Given the description of an element on the screen output the (x, y) to click on. 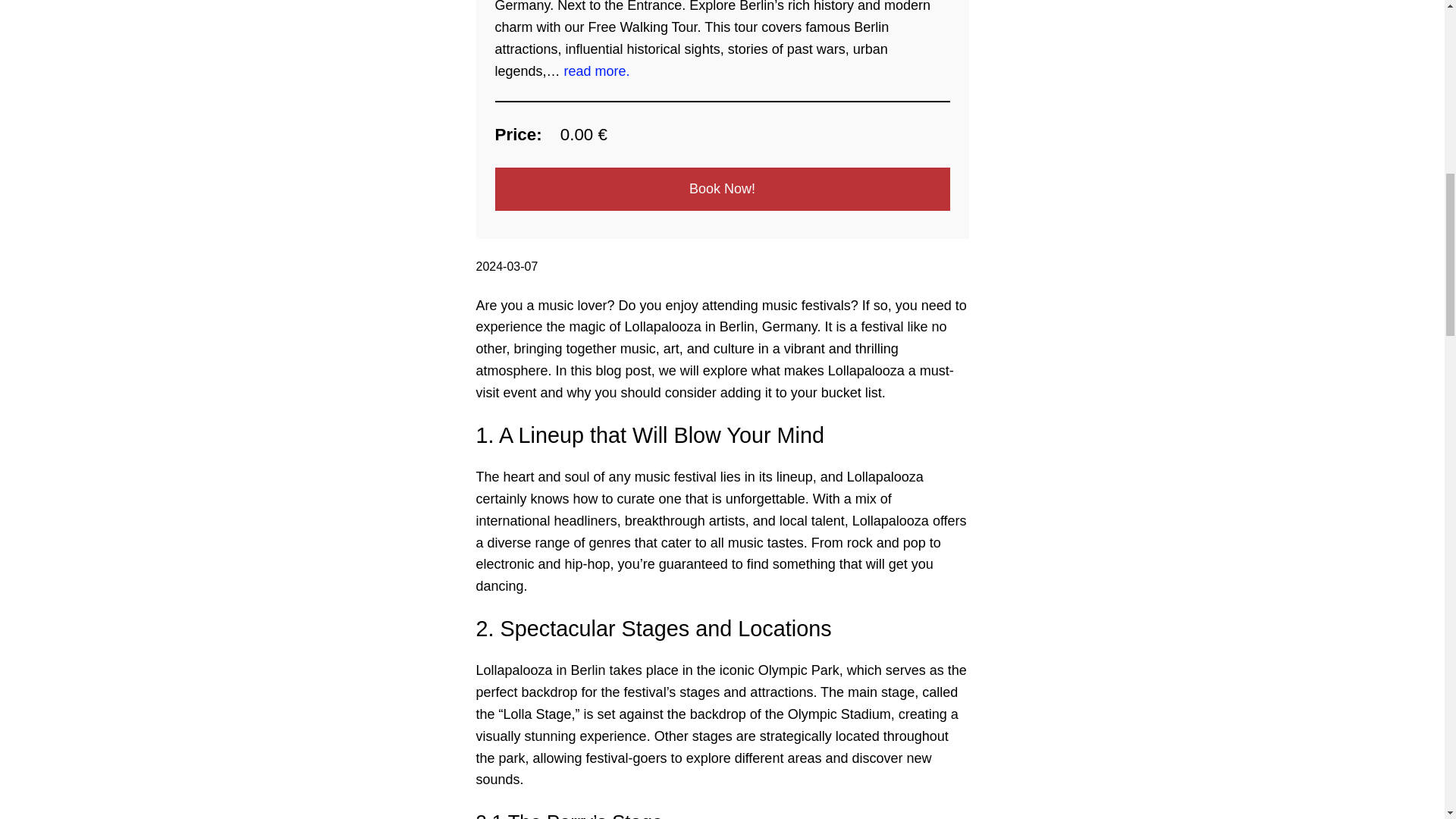
Book Now! (722, 188)
read more. (597, 71)
